Given the description of an element on the screen output the (x, y) to click on. 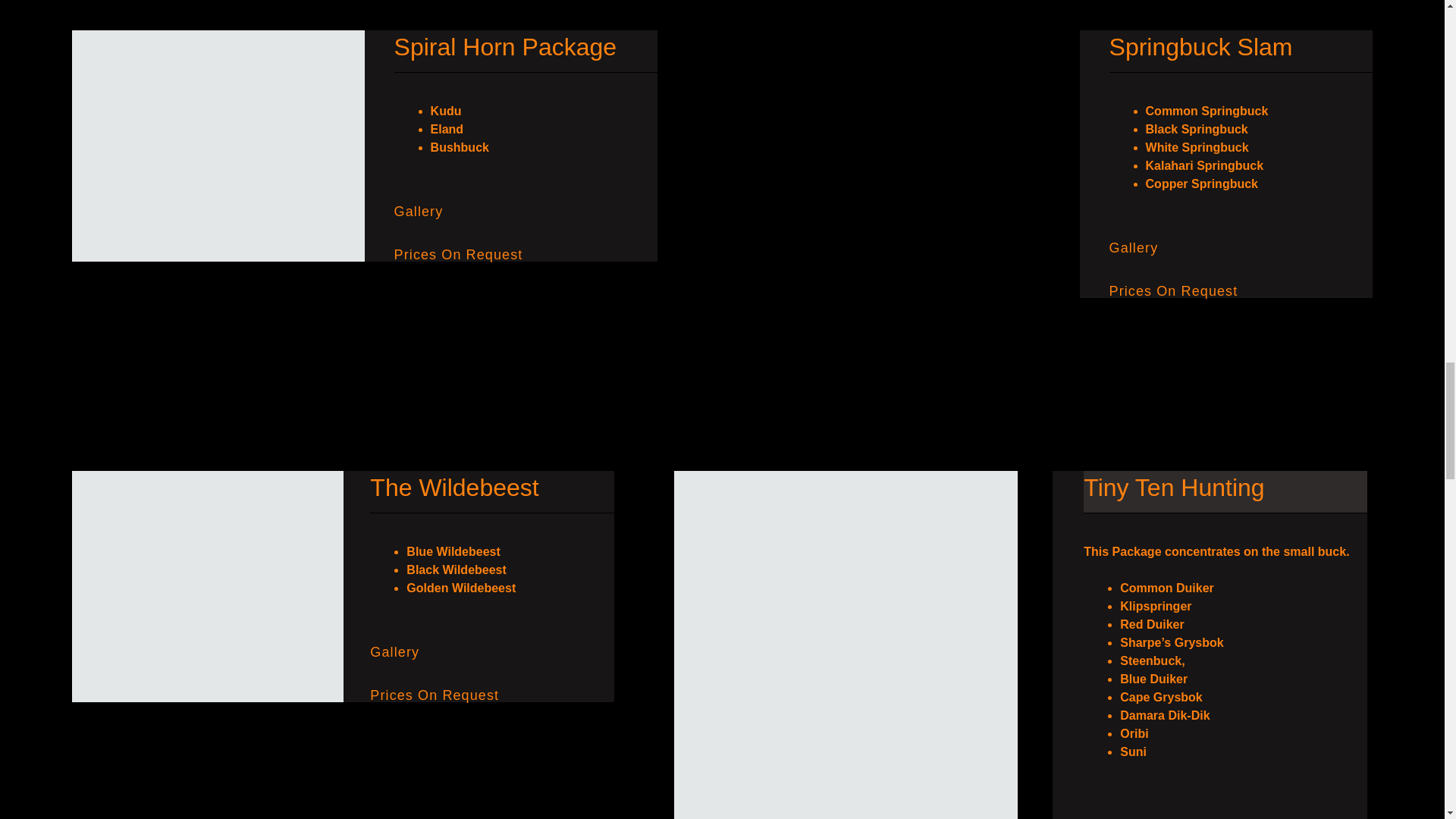
Gallery (394, 652)
Prices On Request (458, 254)
Prices On Request (1174, 290)
Gallery (419, 211)
Prices On Request (434, 694)
Gallery (1133, 247)
